Given the description of an element on the screen output the (x, y) to click on. 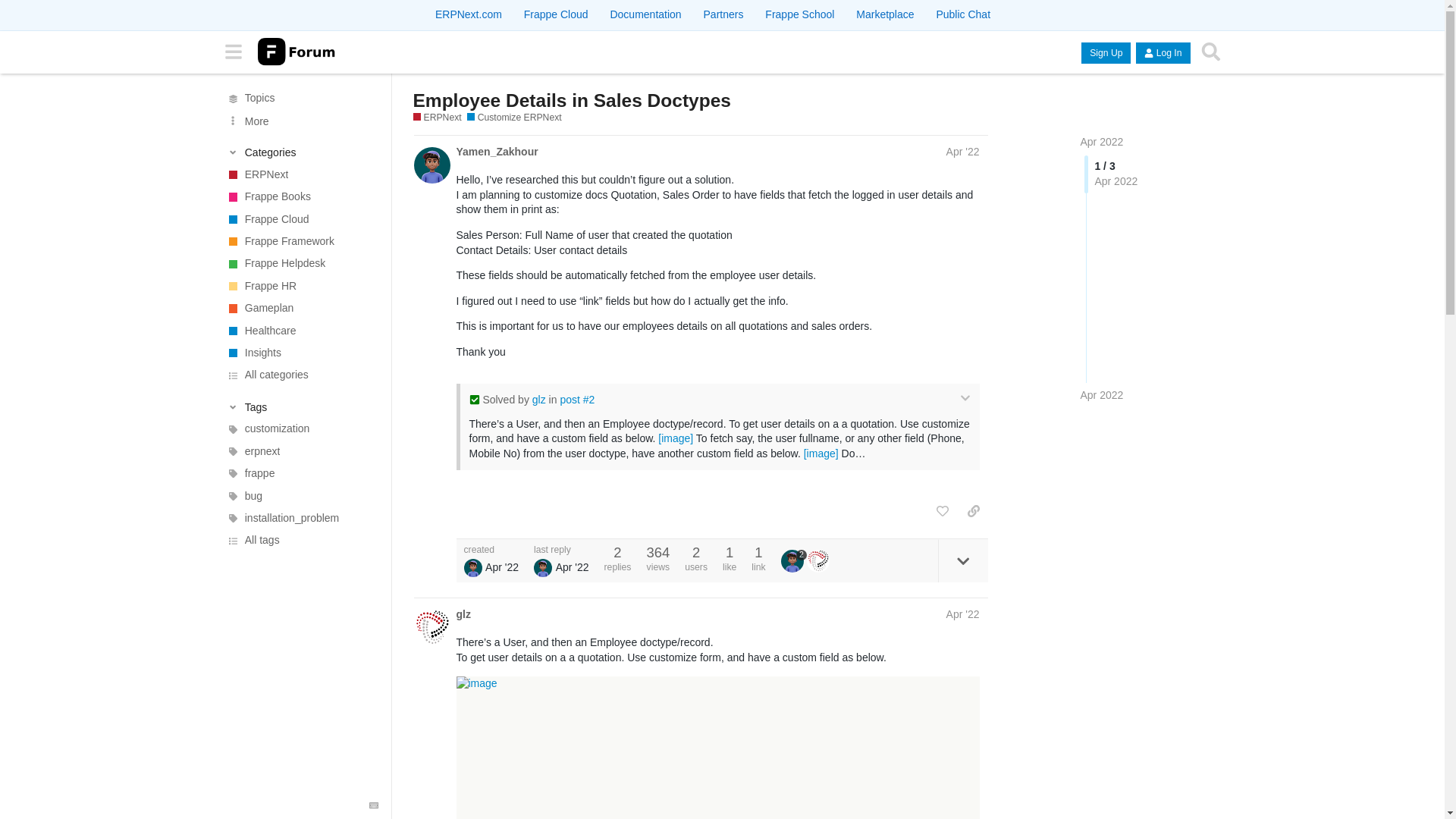
All tags (300, 540)
bug (300, 495)
Employee Details in Sales Doctypes (571, 100)
frappe (300, 473)
Apr 2022 (1101, 141)
Toggle section (301, 406)
erpnext (300, 451)
Gameplan (300, 308)
Sidebar (232, 51)
Frappe Cloud (556, 14)
Marketplace (885, 14)
Toggle section (301, 151)
Healthcare (300, 331)
